Given the description of an element on the screen output the (x, y) to click on. 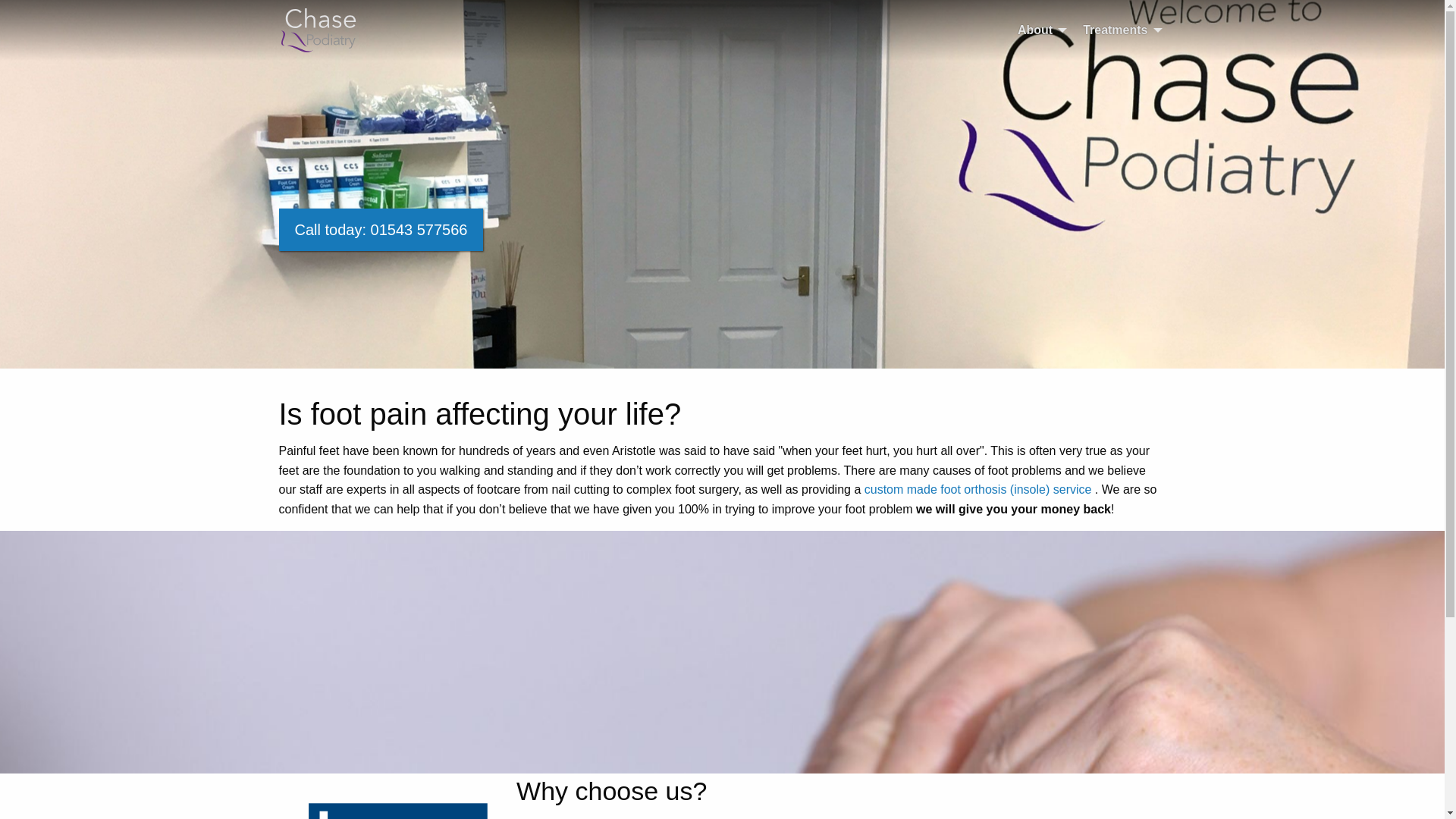
Call today: 01543 577566 (381, 229)
Treatments (1118, 30)
About (1038, 30)
